Given the description of an element on the screen output the (x, y) to click on. 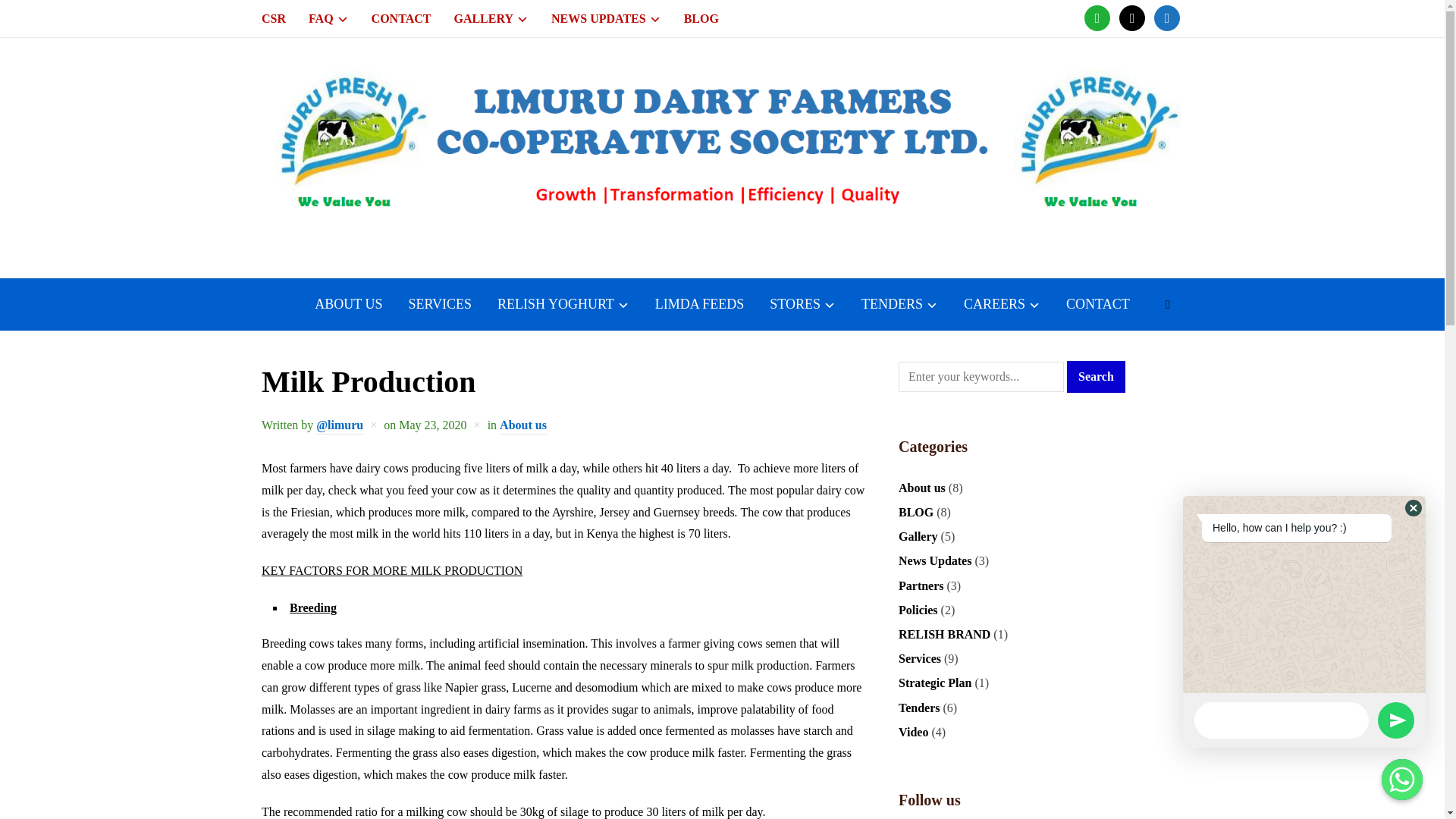
Twitter (1131, 16)
SERVICES (440, 304)
FAQ (328, 18)
whatsapp (1096, 16)
ABOUT US (347, 304)
RELISH YOGHURT (562, 304)
Instagram (1166, 16)
GALLERY (490, 18)
Facebook (1096, 16)
NEWS UPDATES (606, 18)
BLOG (701, 18)
Search (1167, 304)
Search (1096, 377)
CONTACT (400, 18)
mail (1131, 16)
